Given the description of an element on the screen output the (x, y) to click on. 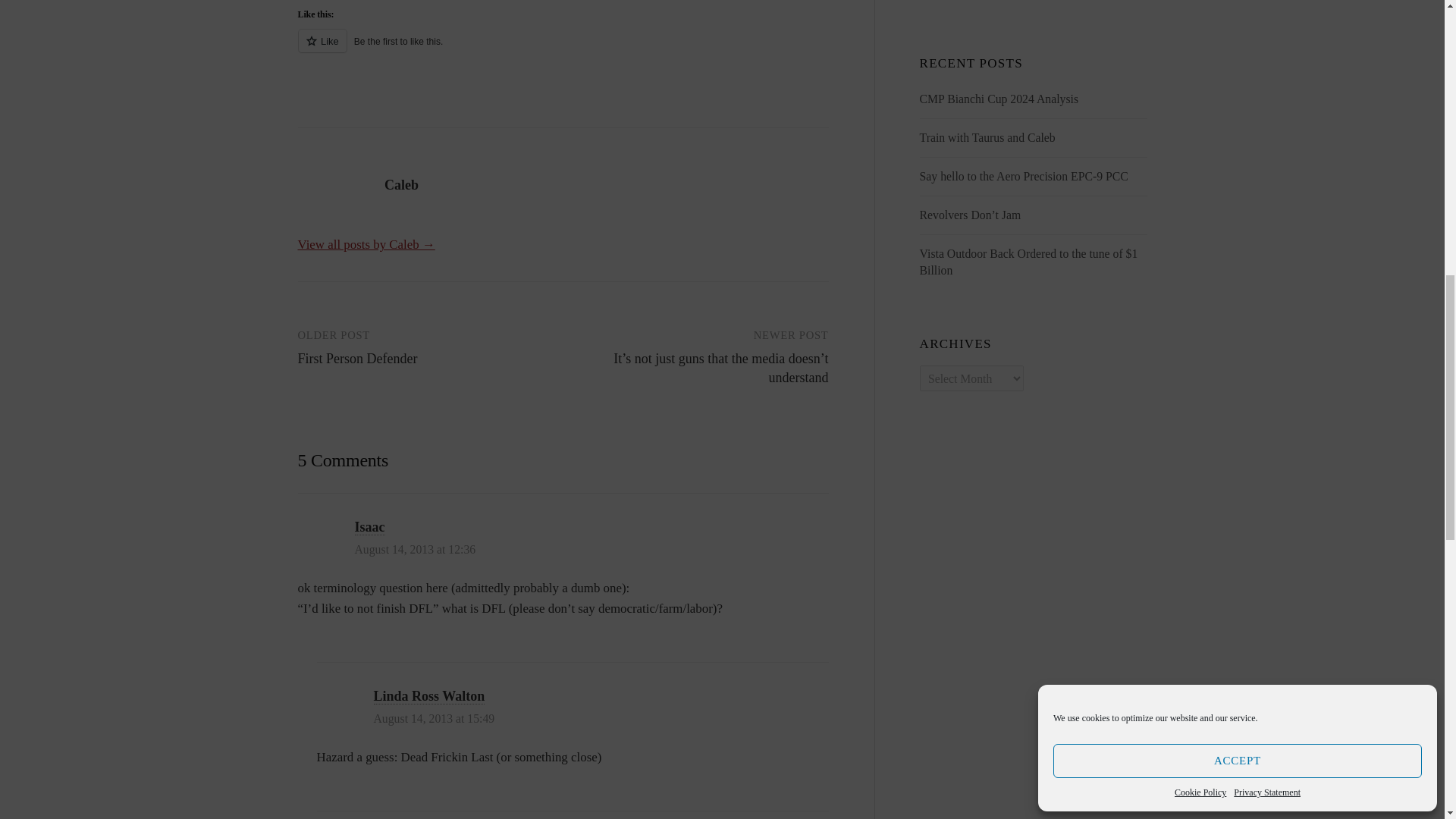
First Person Defender (356, 358)
Linda Ross Walton (428, 696)
August 14, 2013 at 15:49 (433, 717)
August 14, 2013 at 12:36 (415, 549)
Isaac (370, 527)
Like or Reblog (562, 49)
